Given the description of an element on the screen output the (x, y) to click on. 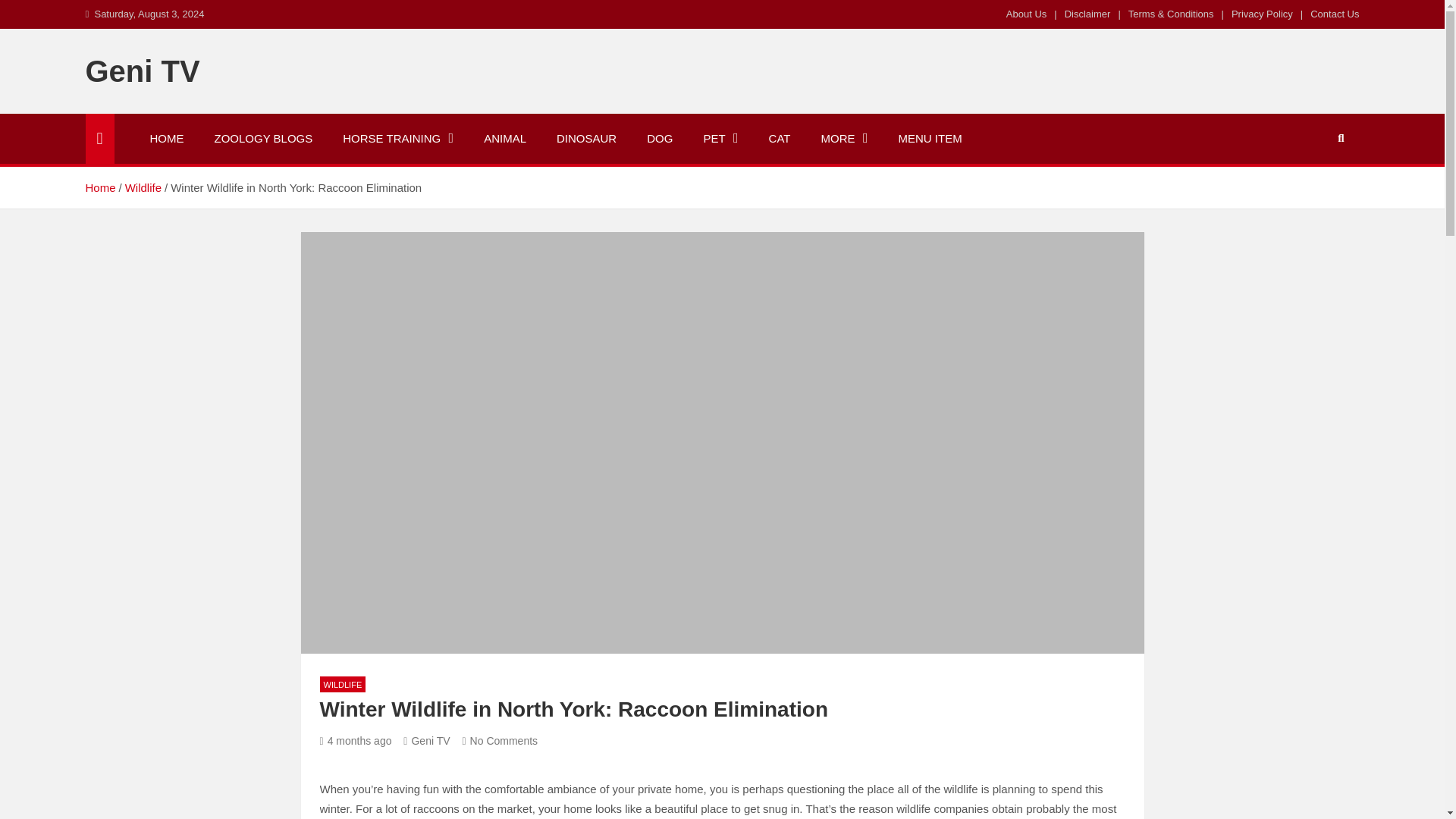
MENU ITEM (929, 138)
MORE (843, 138)
CAT (780, 138)
PET (719, 138)
4 months ago (355, 740)
Home (99, 187)
HOME (167, 138)
Winter Wildlife in North York: Raccoon Elimination (355, 740)
Contact Us (1334, 13)
ANIMAL (504, 138)
WILDLIFE (343, 684)
HORSE TRAINING (397, 138)
Wildlife (143, 187)
DOG (659, 138)
ZOOLOGY BLOGS (262, 138)
